Given the description of an element on the screen output the (x, y) to click on. 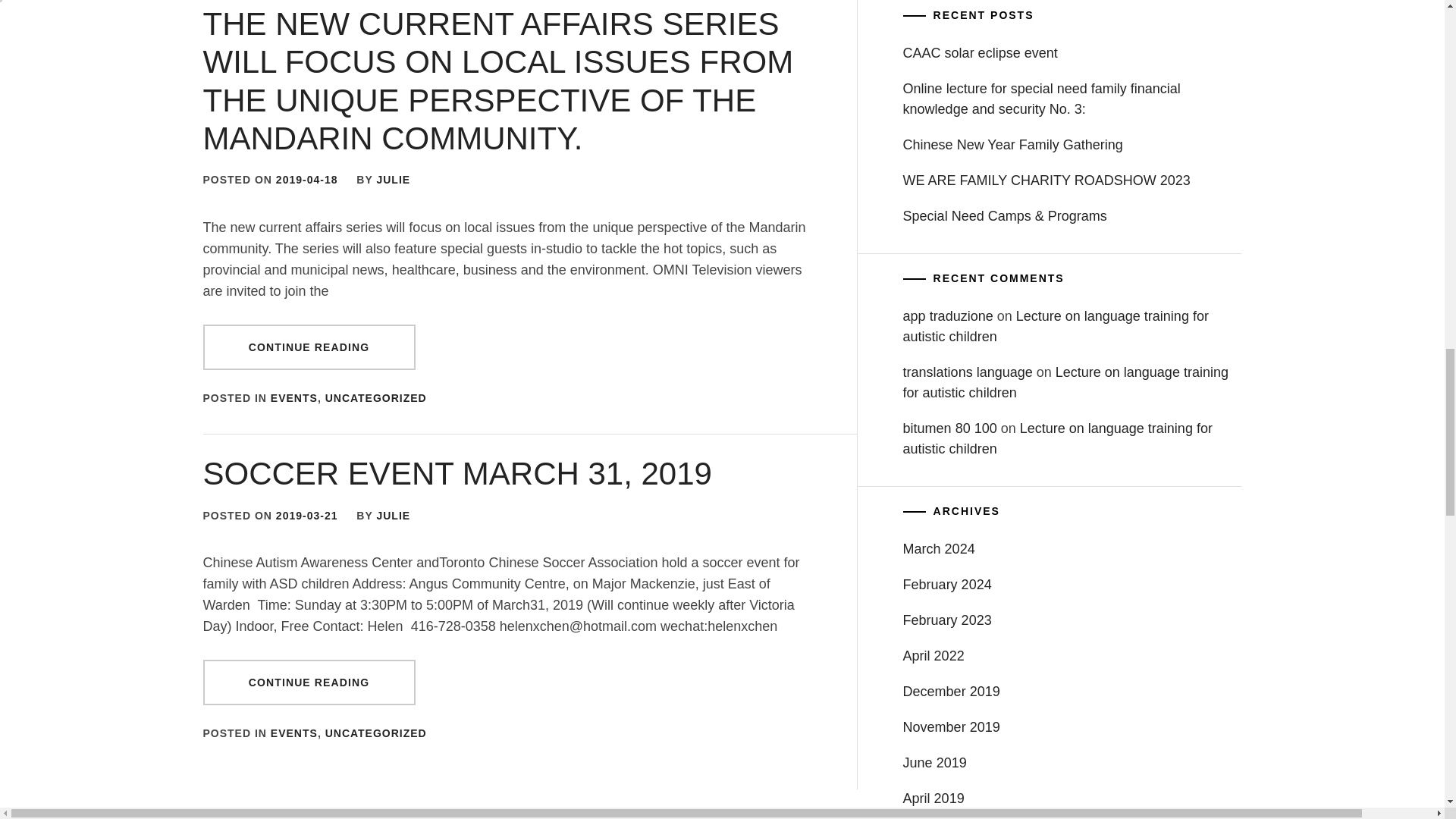
SOCCER EVENT MARCH 31, 2019 (457, 473)
EVENTS (293, 398)
JULIE (392, 179)
2019-04-18 (306, 179)
CONTINUE READING (308, 347)
UNCATEGORIZED (375, 398)
2019-03-21 (306, 515)
